Given the description of an element on the screen output the (x, y) to click on. 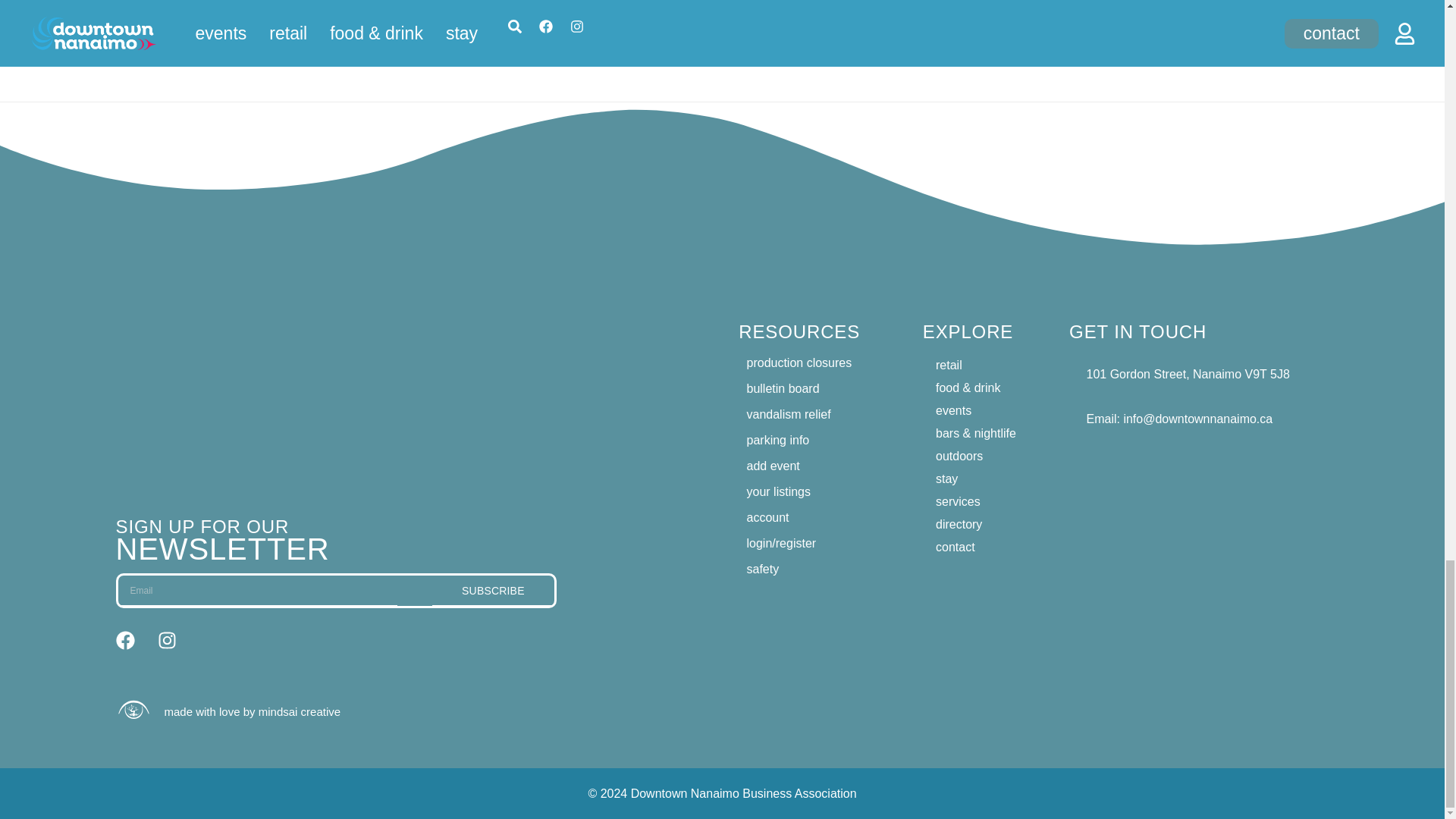
Post Review (571, 3)
